Given the description of an element on the screen output the (x, y) to click on. 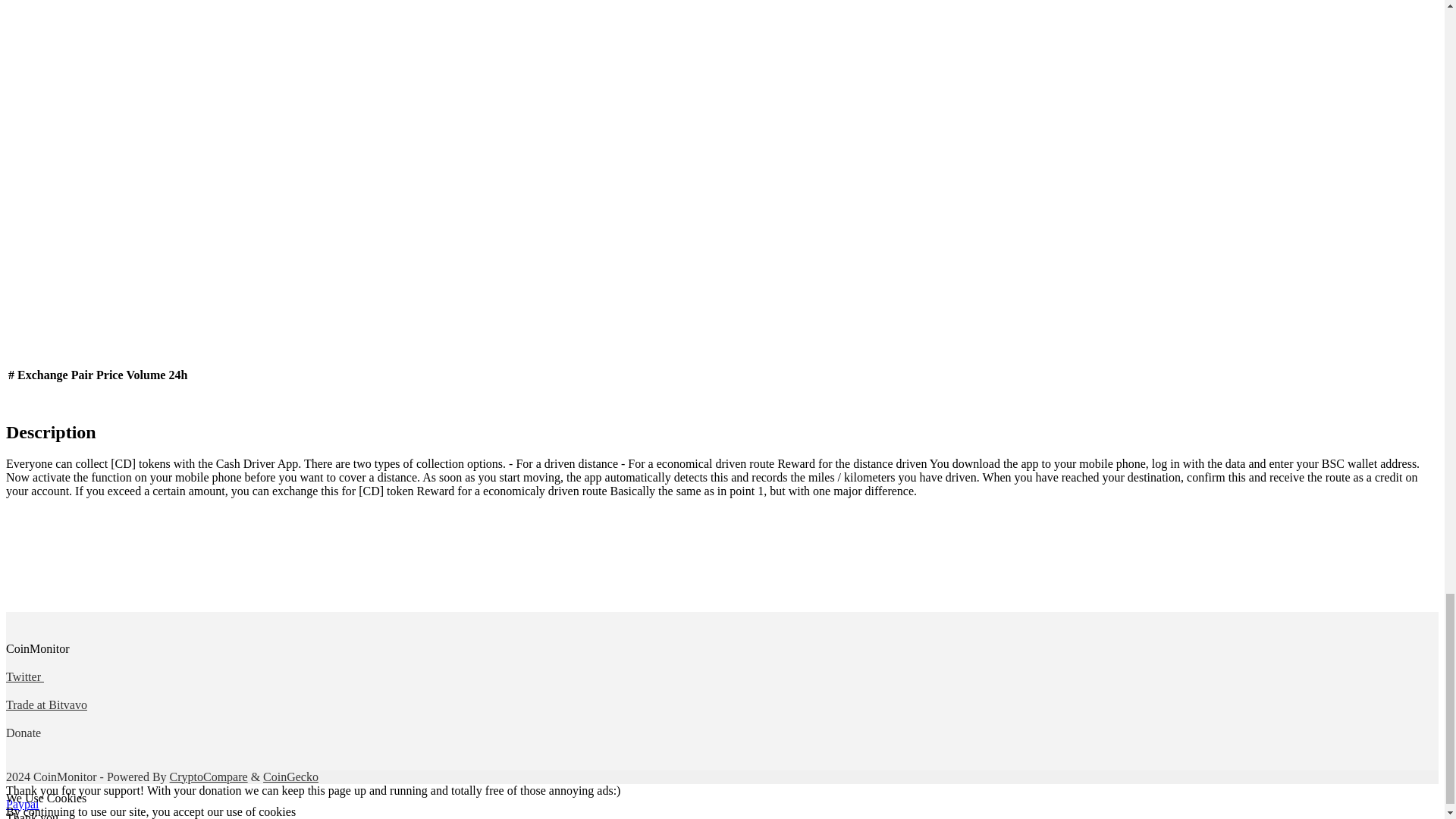
Paypal (22, 803)
CoinGecko (290, 776)
CryptoCompare (208, 776)
Twitter  (24, 676)
Trade at Bitvavo (46, 704)
Donate  (24, 732)
